Given the description of an element on the screen output the (x, y) to click on. 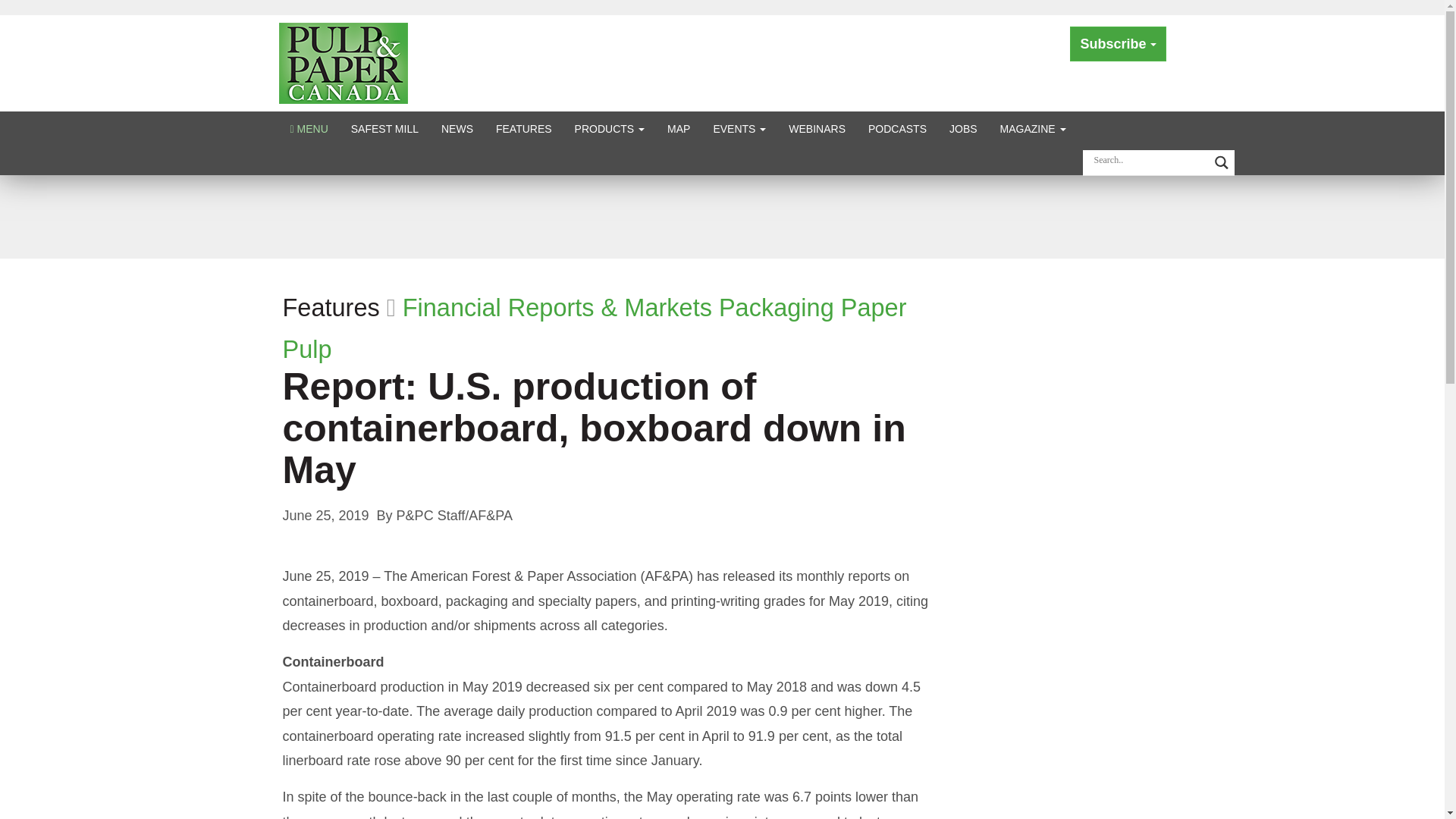
FEATURES (523, 128)
JOBS (962, 128)
Click to show site navigation (309, 128)
MENU (309, 128)
Subscribe (1118, 43)
NEWS (456, 128)
3rd party ad content (721, 215)
WEBINARS (817, 128)
Pulp and Paper Canada (343, 61)
MAGAZINE (1032, 128)
